Given the description of an element on the screen output the (x, y) to click on. 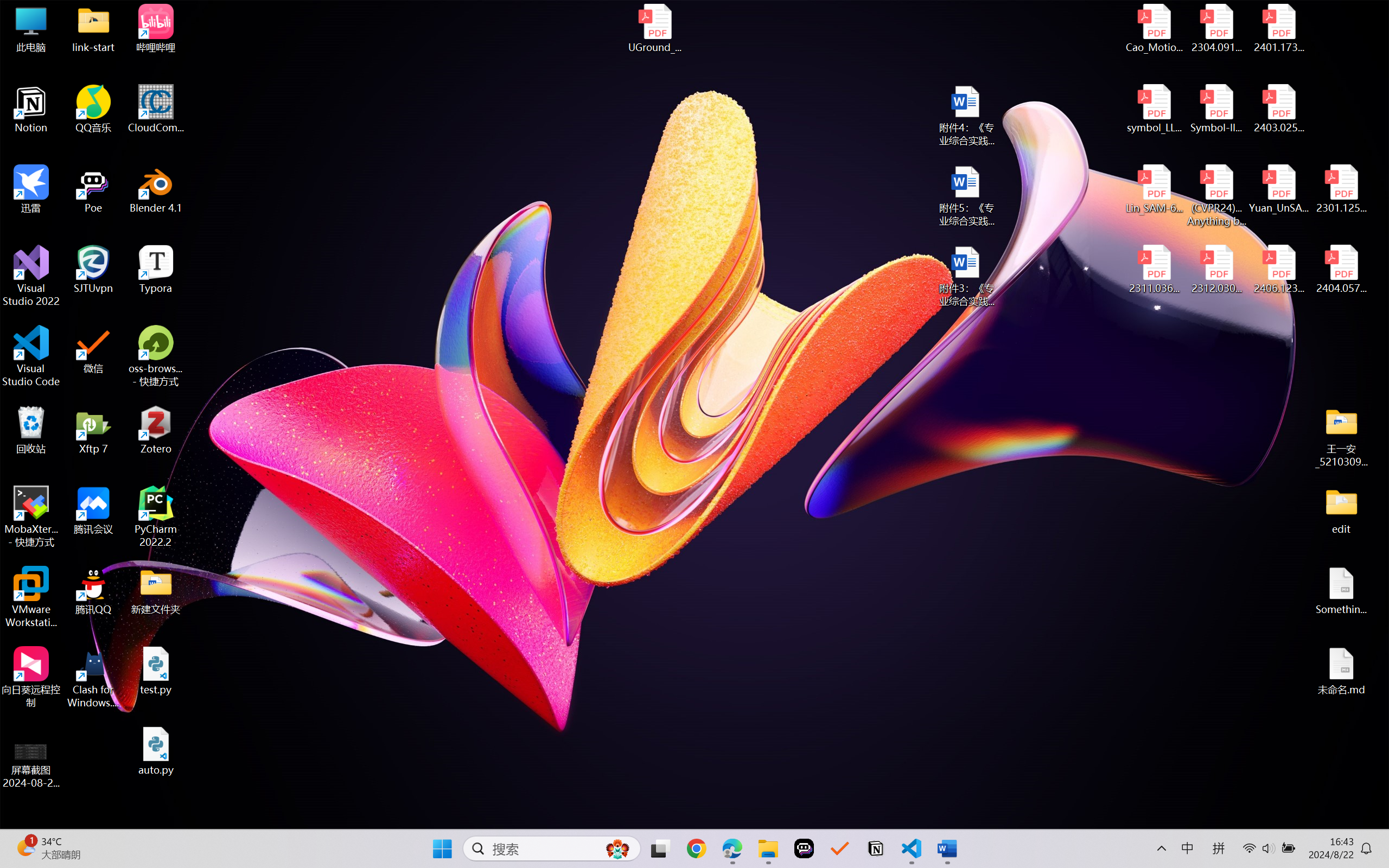
Symbol-llm-v2.pdf (1216, 109)
Visual Studio 2022 (31, 276)
2401.17399v1.pdf (1278, 28)
